Given the description of an element on the screen output the (x, y) to click on. 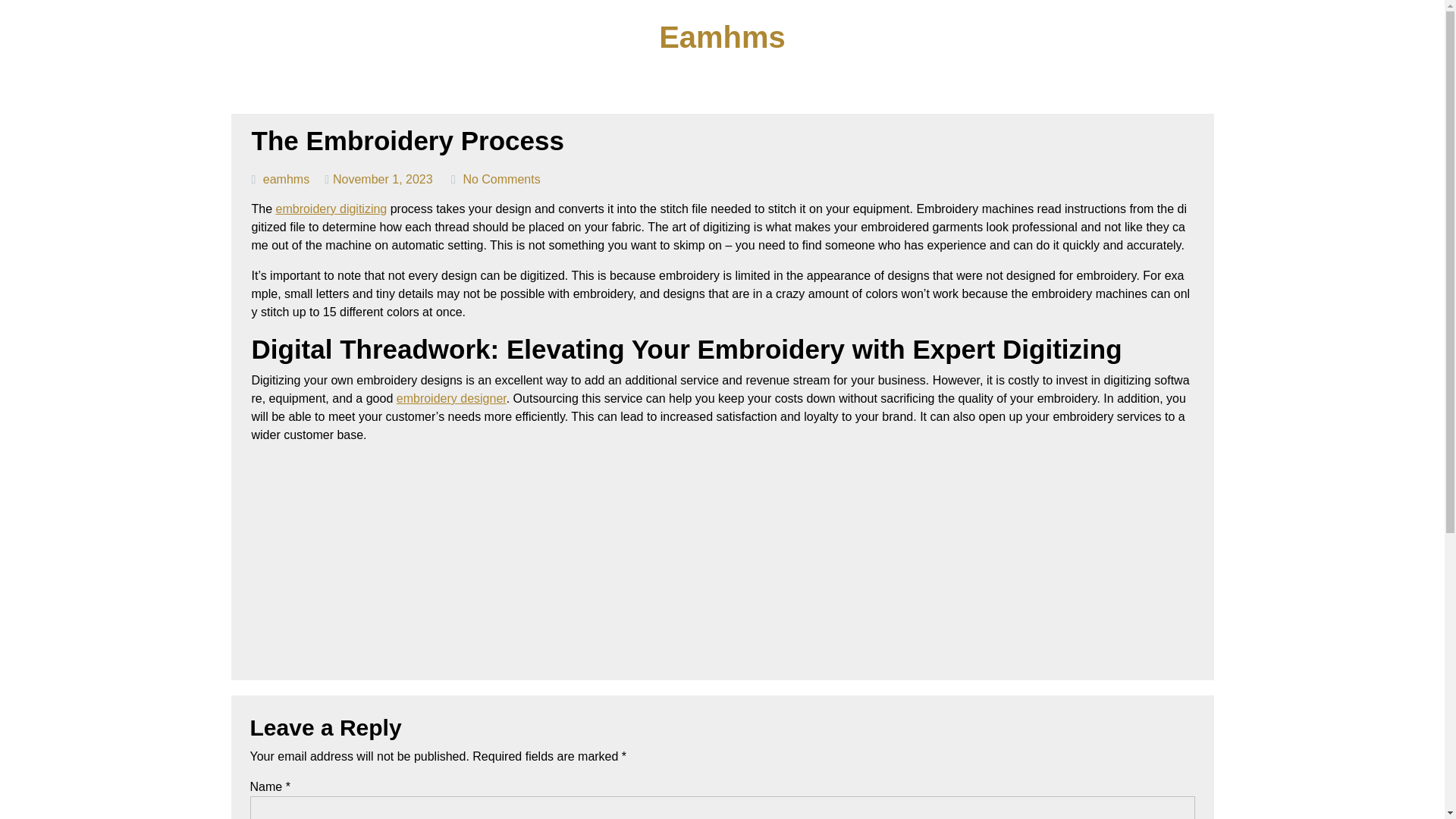
No Comments (501, 178)
embroidery designer (451, 398)
eamhms (285, 178)
embroidery digitizing (331, 208)
November 1, 2023 (382, 178)
The Embroidery Process (407, 140)
Eamhms (722, 37)
